Given the description of an element on the screen output the (x, y) to click on. 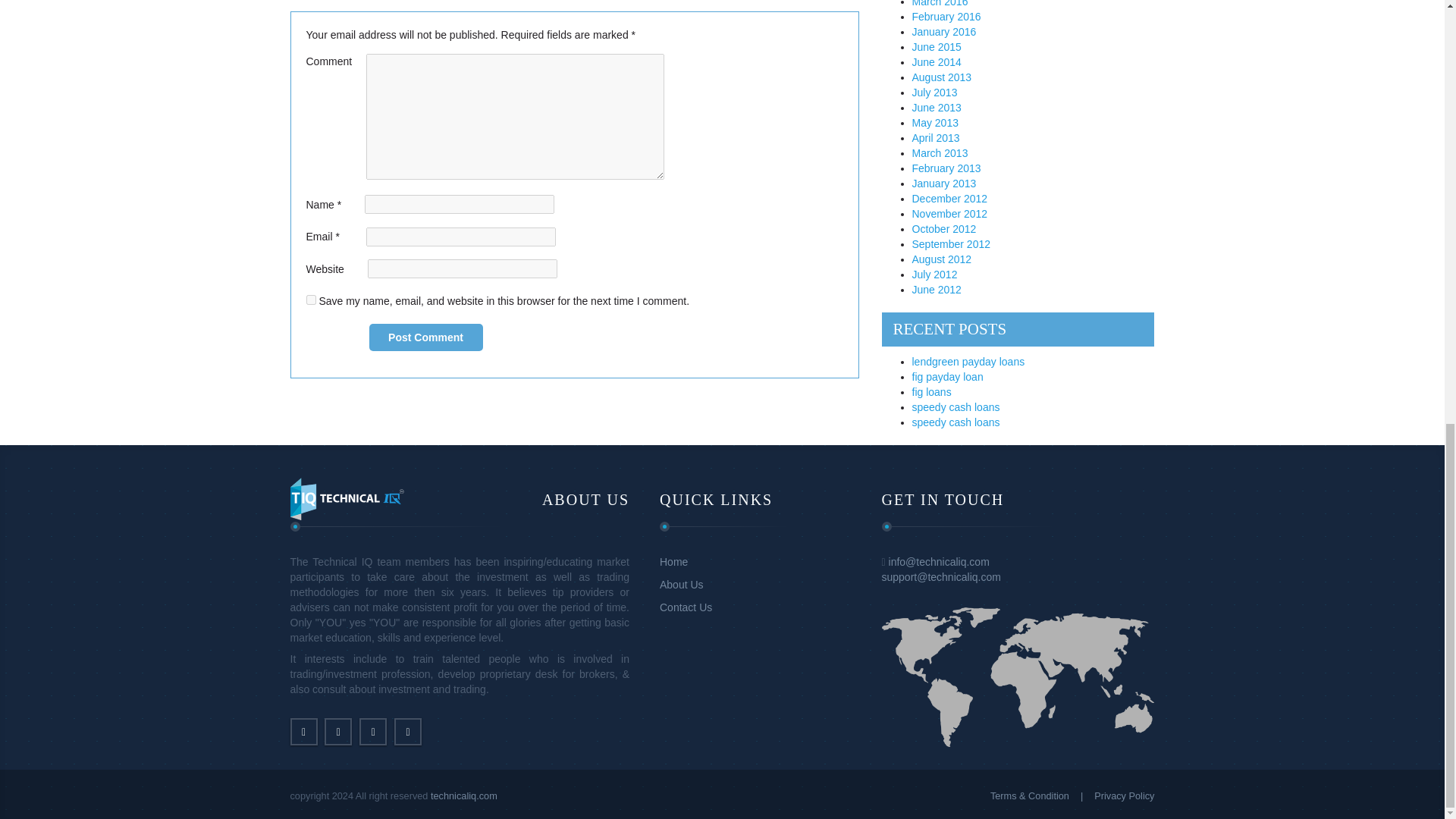
Post Comment (424, 337)
Post Comment (424, 337)
Technical IQ (346, 498)
yes (310, 299)
